Given the description of an element on the screen output the (x, y) to click on. 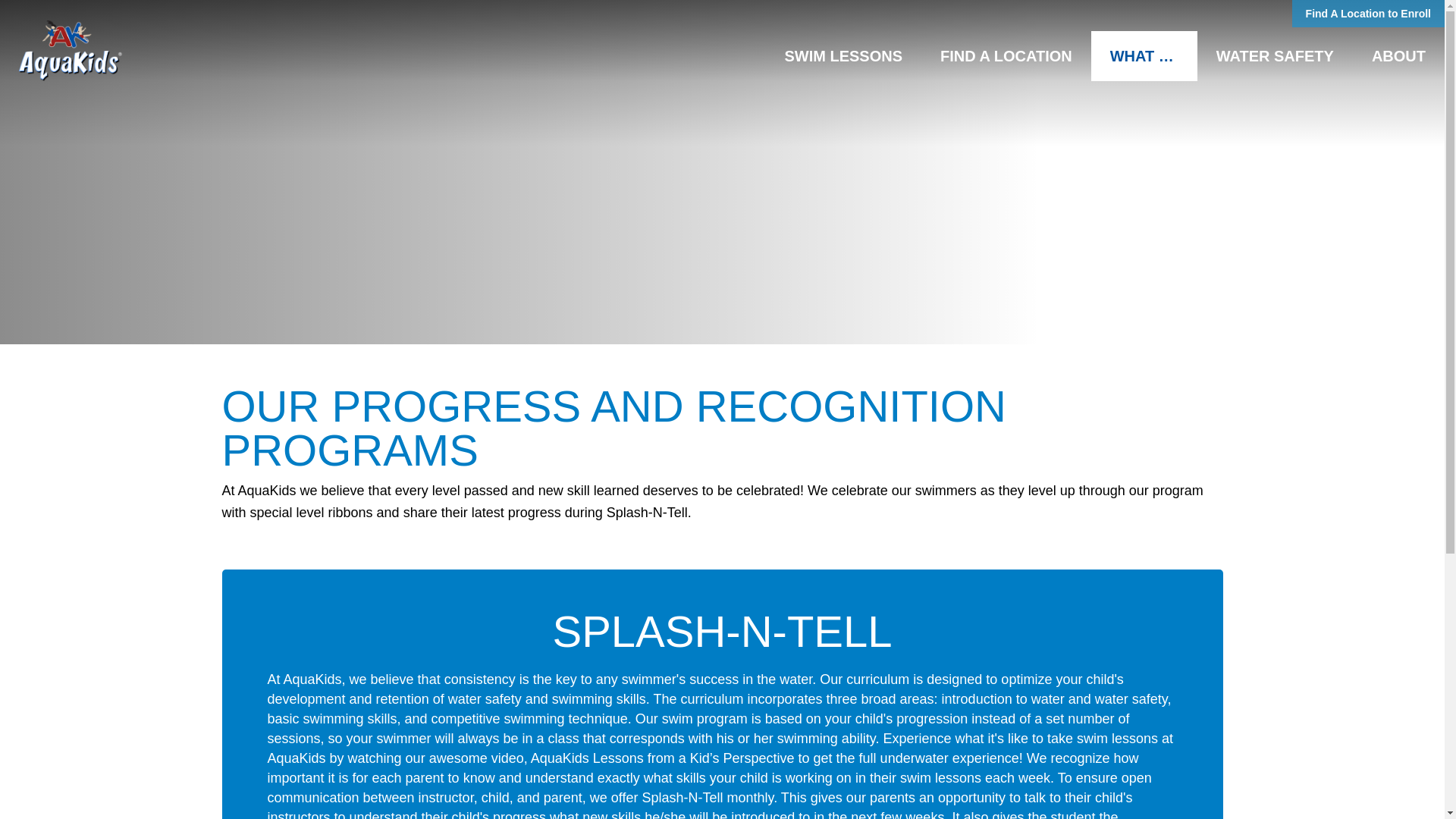
SWIM LESSONS (843, 56)
WHAT TO EXPECT (1143, 56)
Find A Location to Enroll (1368, 13)
aquakids-logo (70, 50)
WATER SAFETY (1274, 56)
FIND A LOCATION (1005, 56)
